Given the description of an element on the screen output the (x, y) to click on. 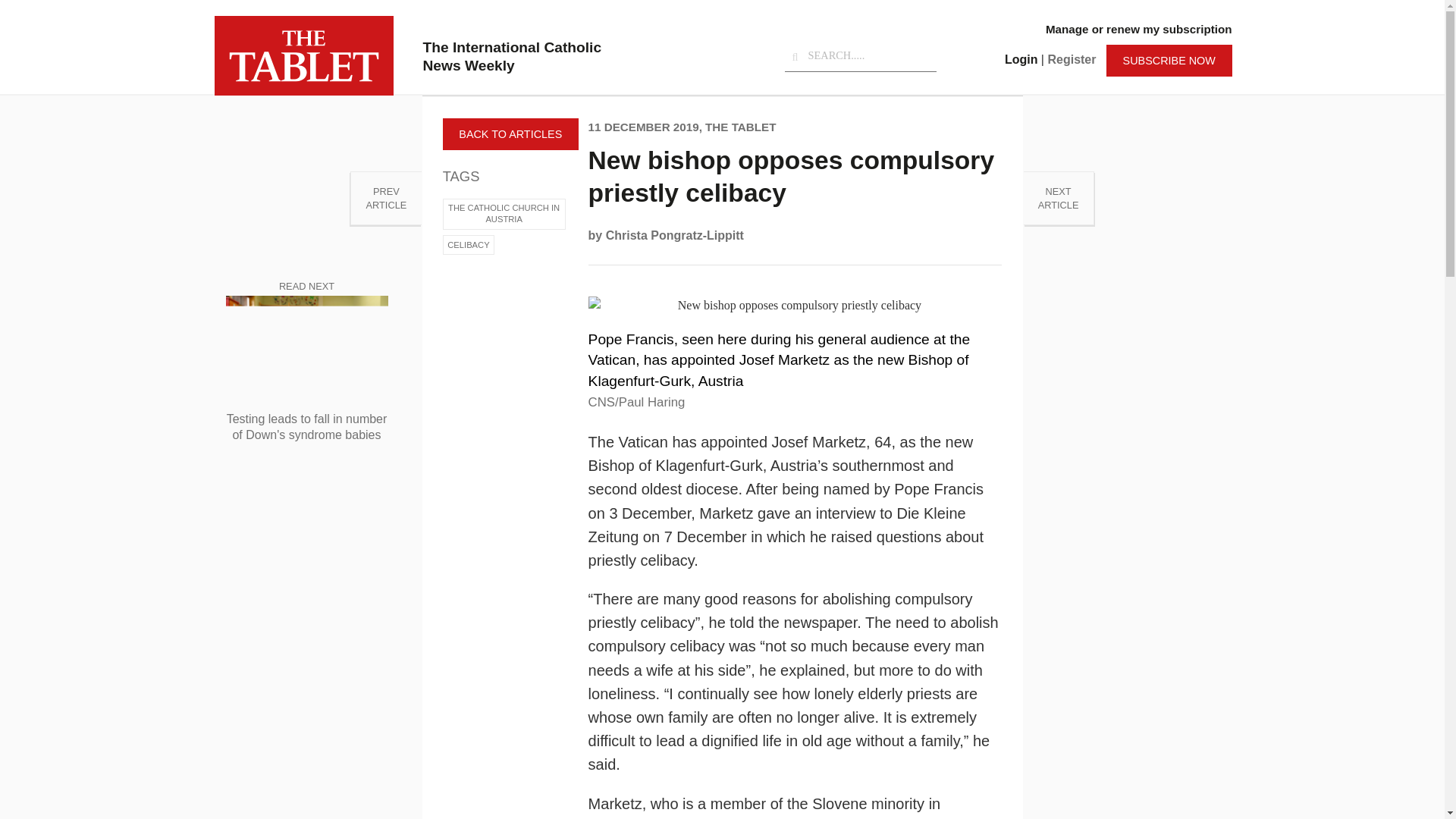
Register (1071, 59)
The Tablet (303, 54)
Manage or renew my subscription (1138, 29)
BACK TO ARTICLES (510, 133)
Christa Pongratz-Lippitt (674, 235)
SUBSCRIBE NOW (1168, 60)
THE CATHOLIC CHURCH IN AUSTRIA (504, 214)
Martyrdom comes from following Christ, says Pope (385, 198)
Testing leads to fall in number of Down's syndrome babies (385, 198)
